Given the description of an element on the screen output the (x, y) to click on. 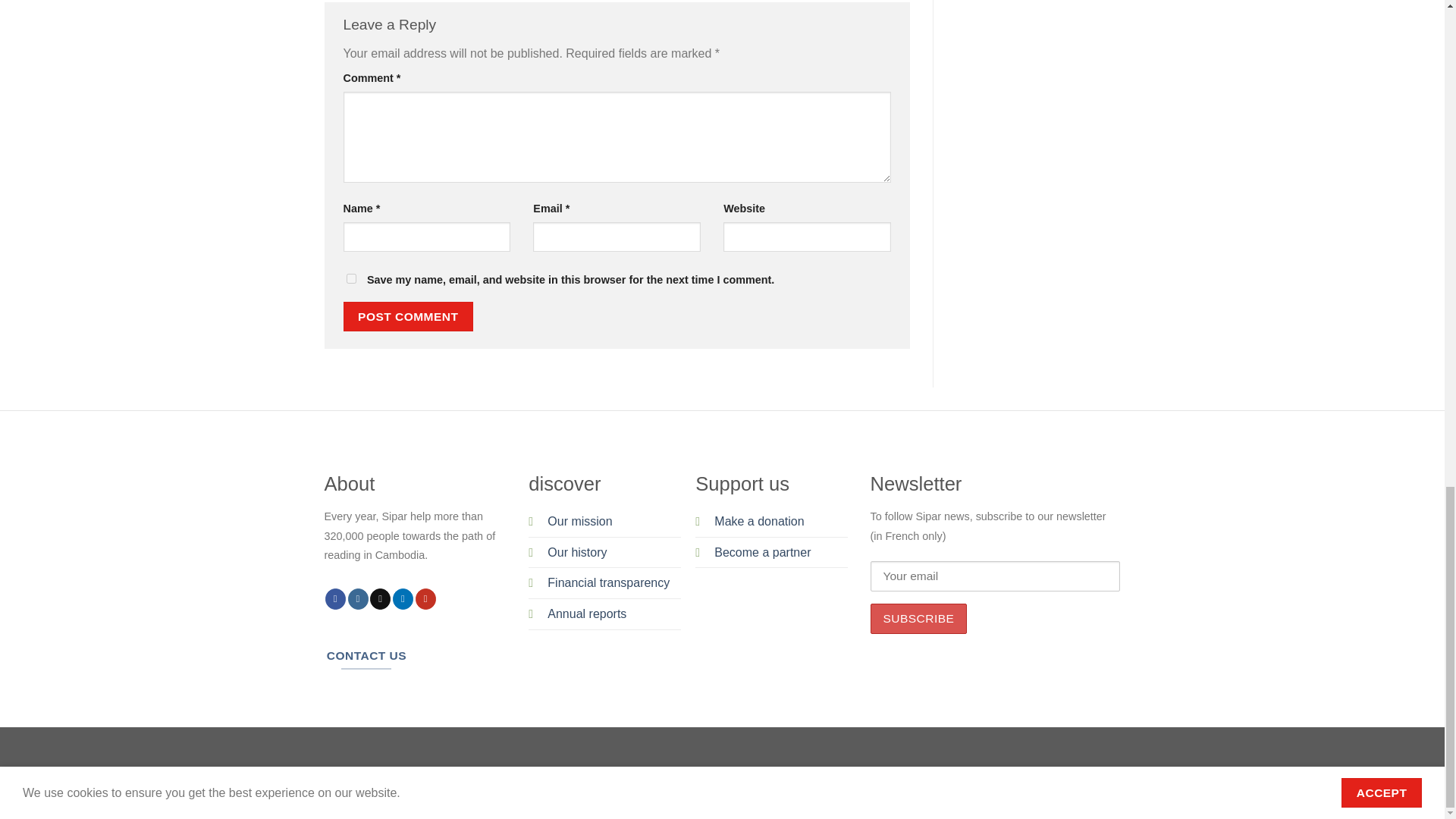
subscribe (919, 618)
Post Comment (407, 316)
Follow us on Facebook (335, 598)
Send us an email (379, 598)
yes (350, 278)
Follow on Instagram (357, 598)
